Given the description of an element on the screen output the (x, y) to click on. 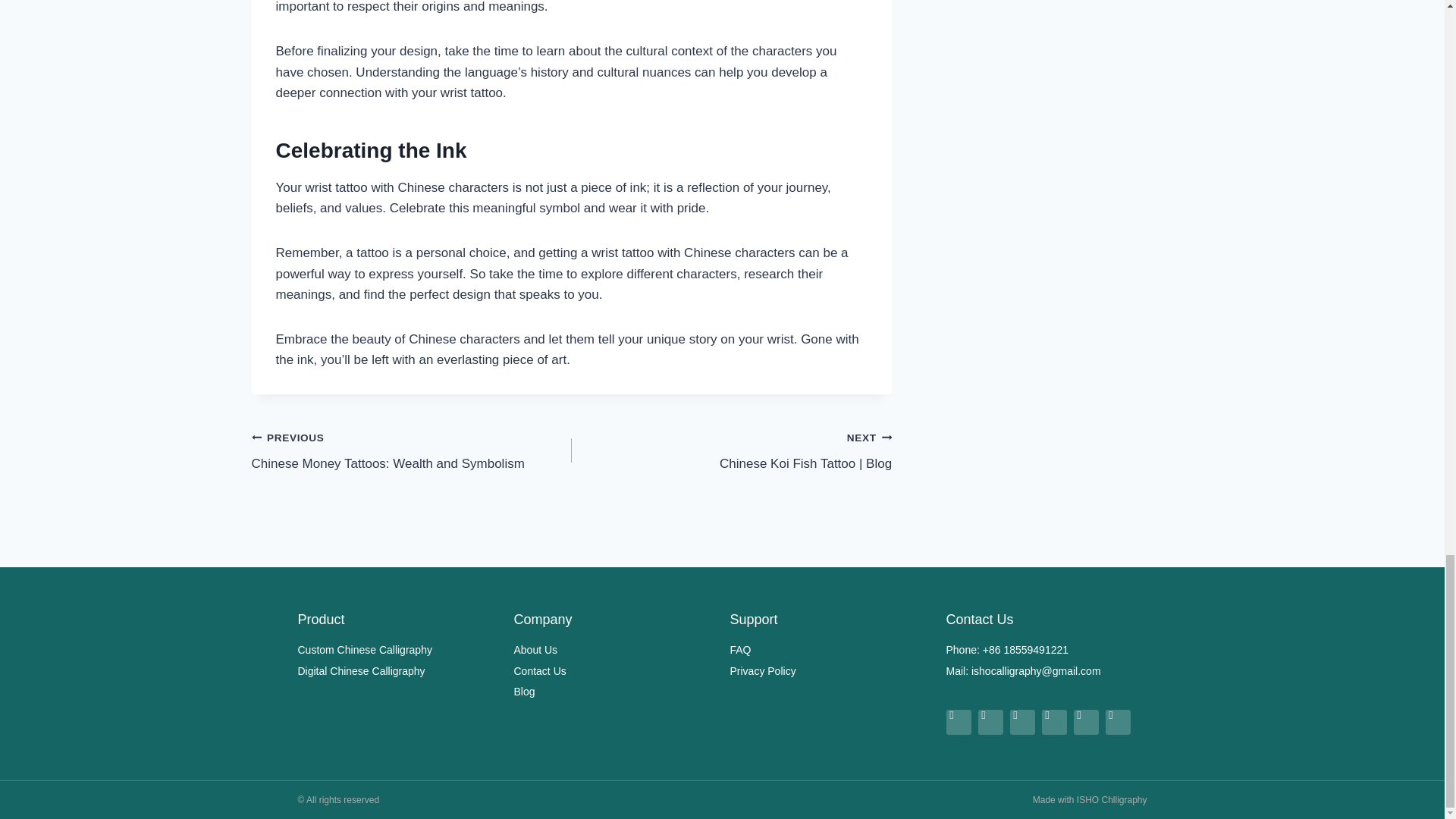
Custom Chinese Calligraphy (397, 649)
About Us (613, 649)
Contact Us (613, 670)
Blog (411, 450)
Digital Chinese Calligraphy (613, 691)
